Given the description of an element on the screen output the (x, y) to click on. 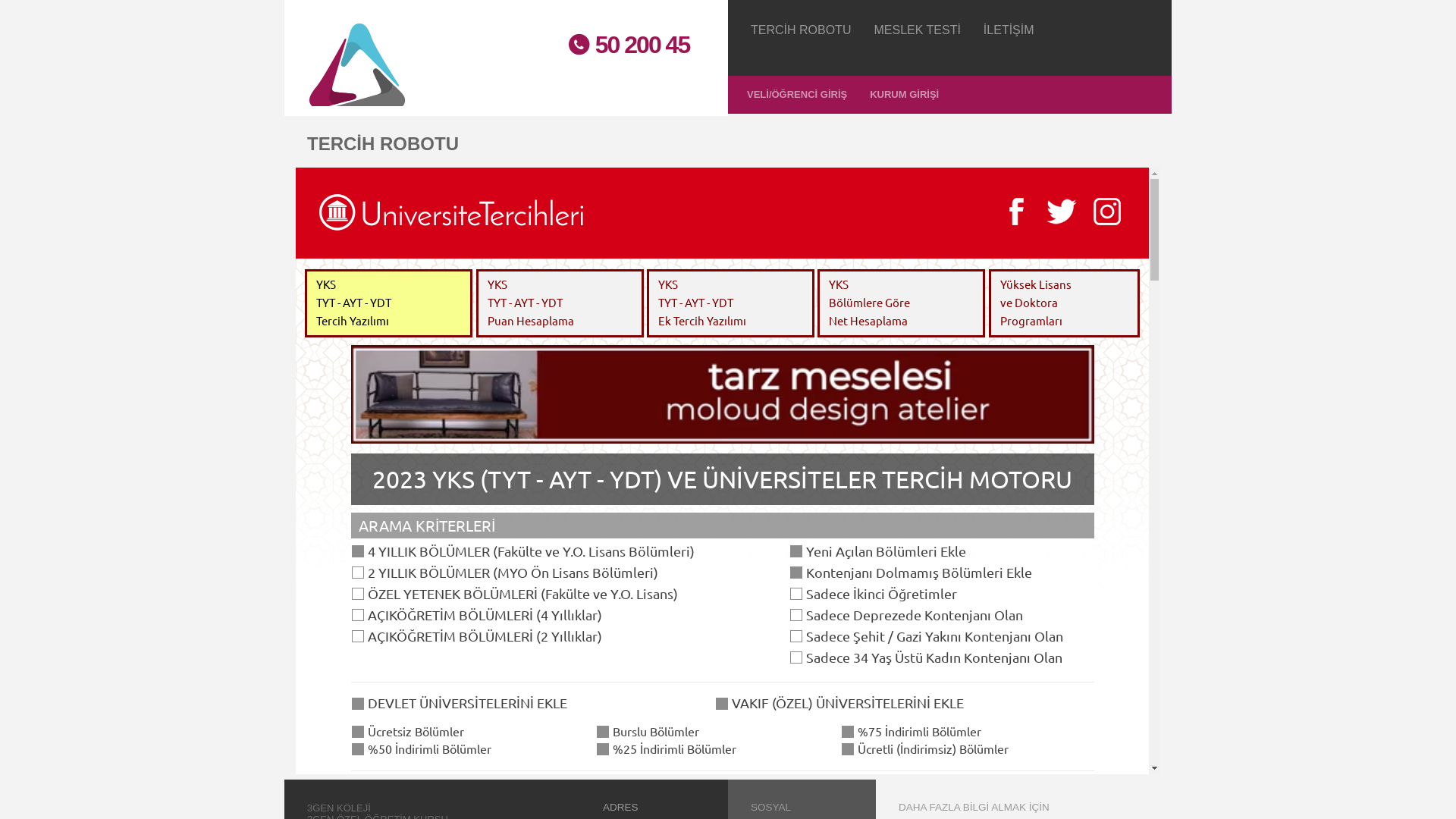
50 200 45 Element type: text (621, 44)
